Given the description of an element on the screen output the (x, y) to click on. 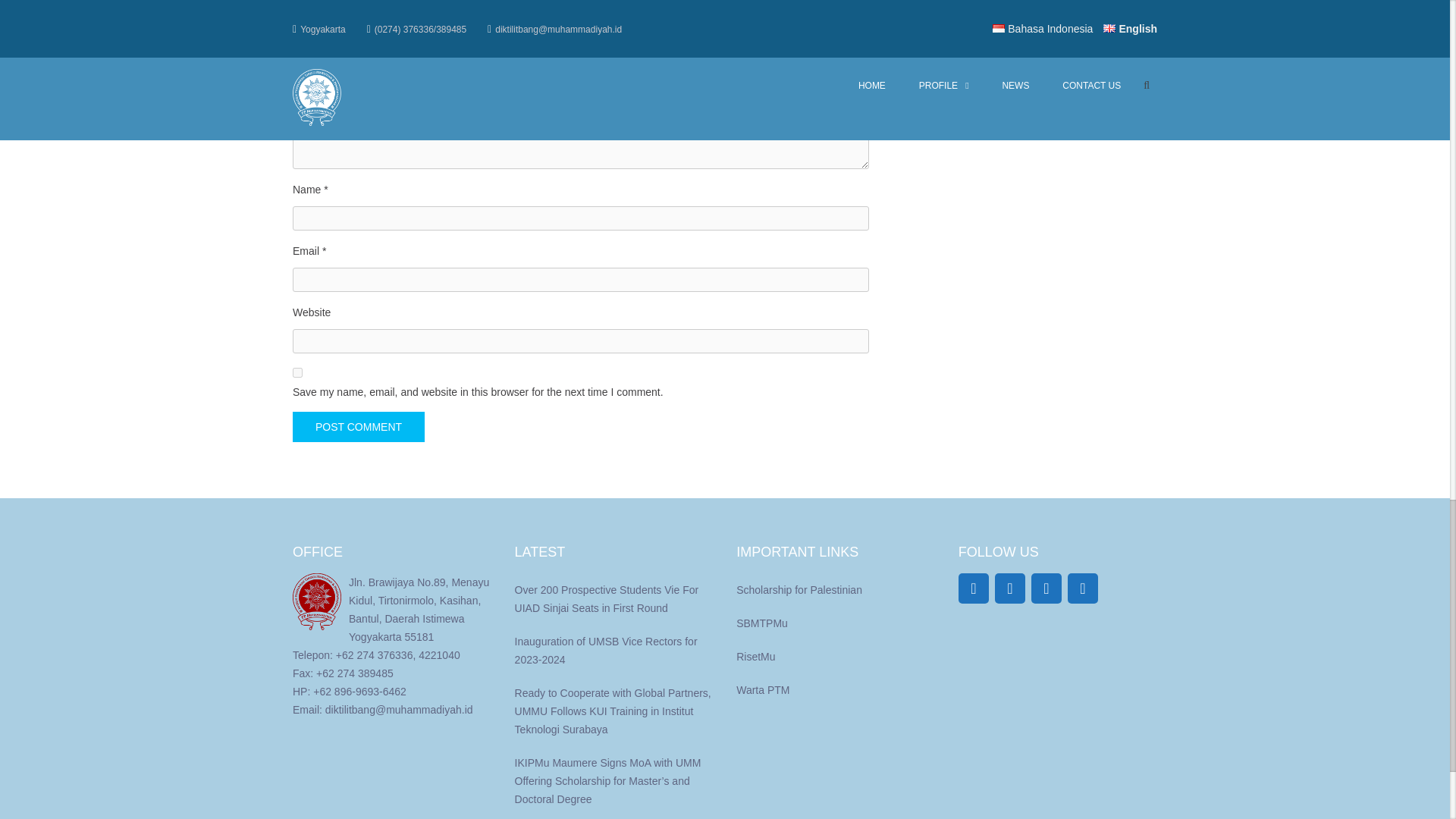
Seleksi Masuk Perguruan Tinggi Muhammadiyah (761, 623)
Post Comment (358, 426)
yes (297, 372)
